Given the description of an element on the screen output the (x, y) to click on. 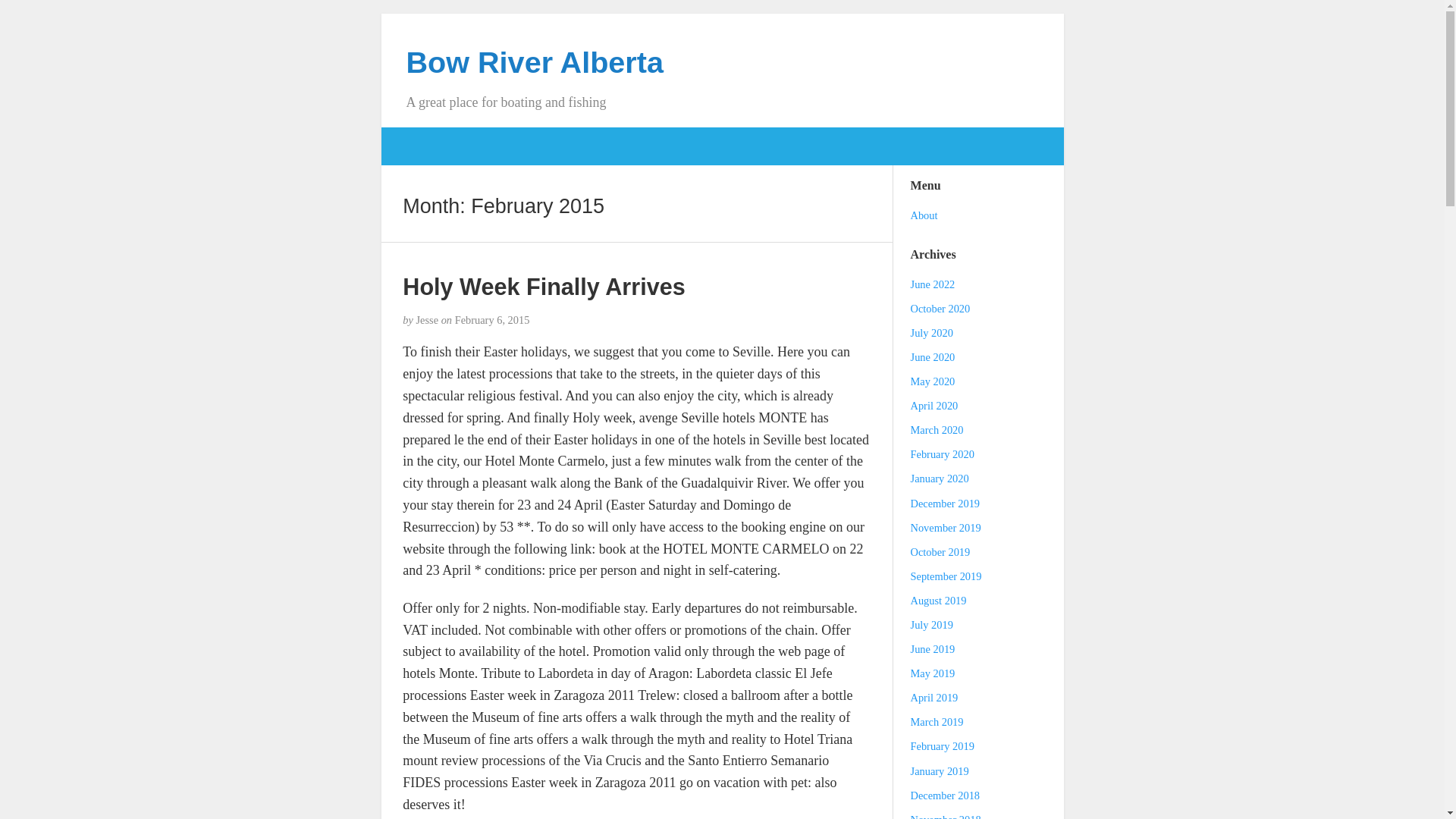
back to home (534, 61)
October 2019 (941, 551)
November 2019 (946, 527)
December 2019 (945, 503)
April 2019 (934, 697)
June 2022 (933, 284)
June 2020 (933, 357)
October 2020 (941, 308)
Holy Week Finally Arrives (543, 286)
September 2019 (946, 576)
About (924, 215)
January 2020 (940, 478)
July 2020 (932, 332)
May 2020 (933, 381)
July 2019 (932, 624)
